Given the description of an element on the screen output the (x, y) to click on. 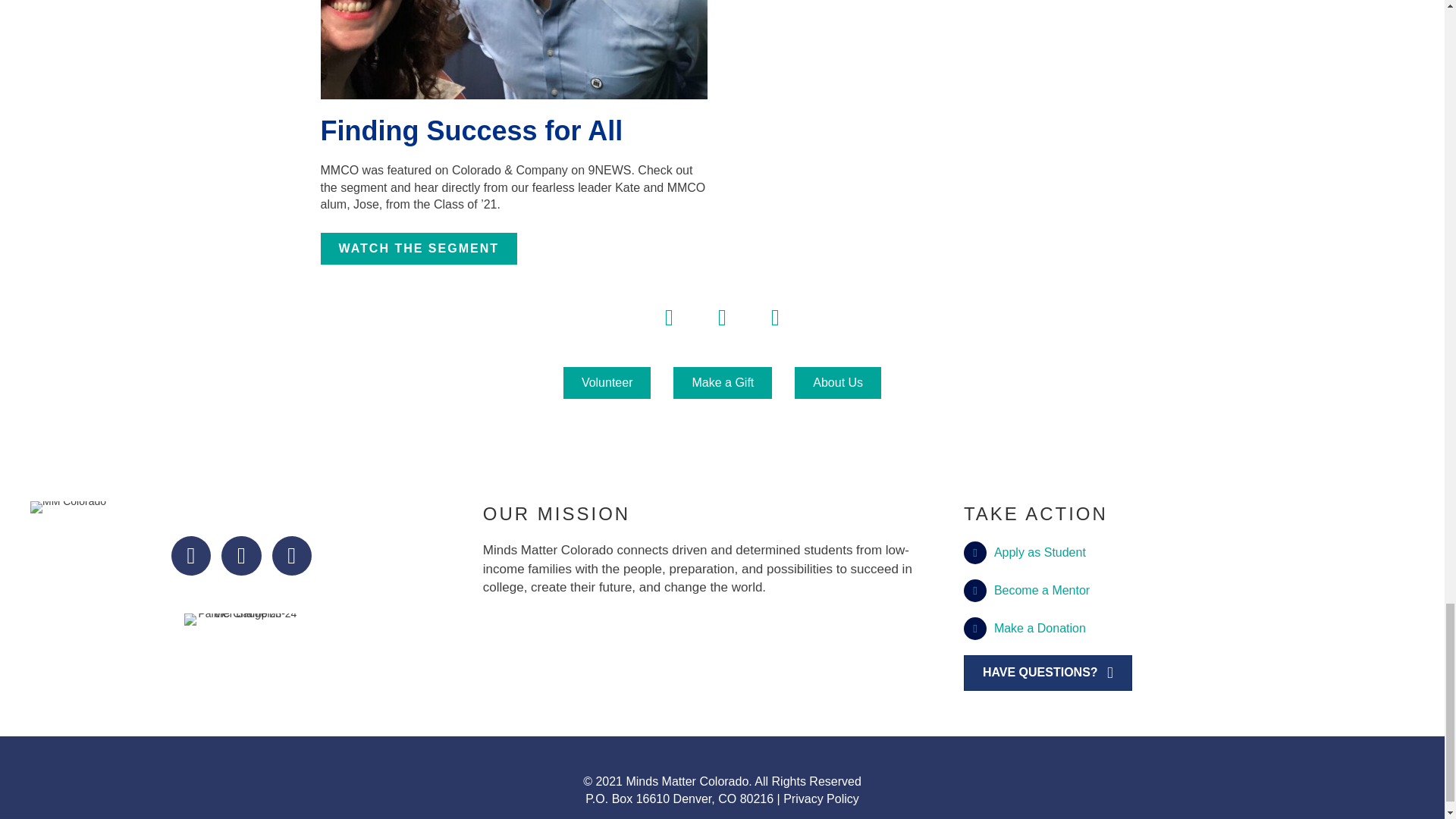
About Us (837, 382)
WATCH THE SEGMENT (418, 248)
MC Champion Partner Badge 23-24 (241, 619)
Volunteer (606, 382)
MM Colorado (68, 507)
Apply as Student (1040, 552)
Become a Mentor (1041, 590)
Make a Gift (721, 382)
